Given the description of an element on the screen output the (x, y) to click on. 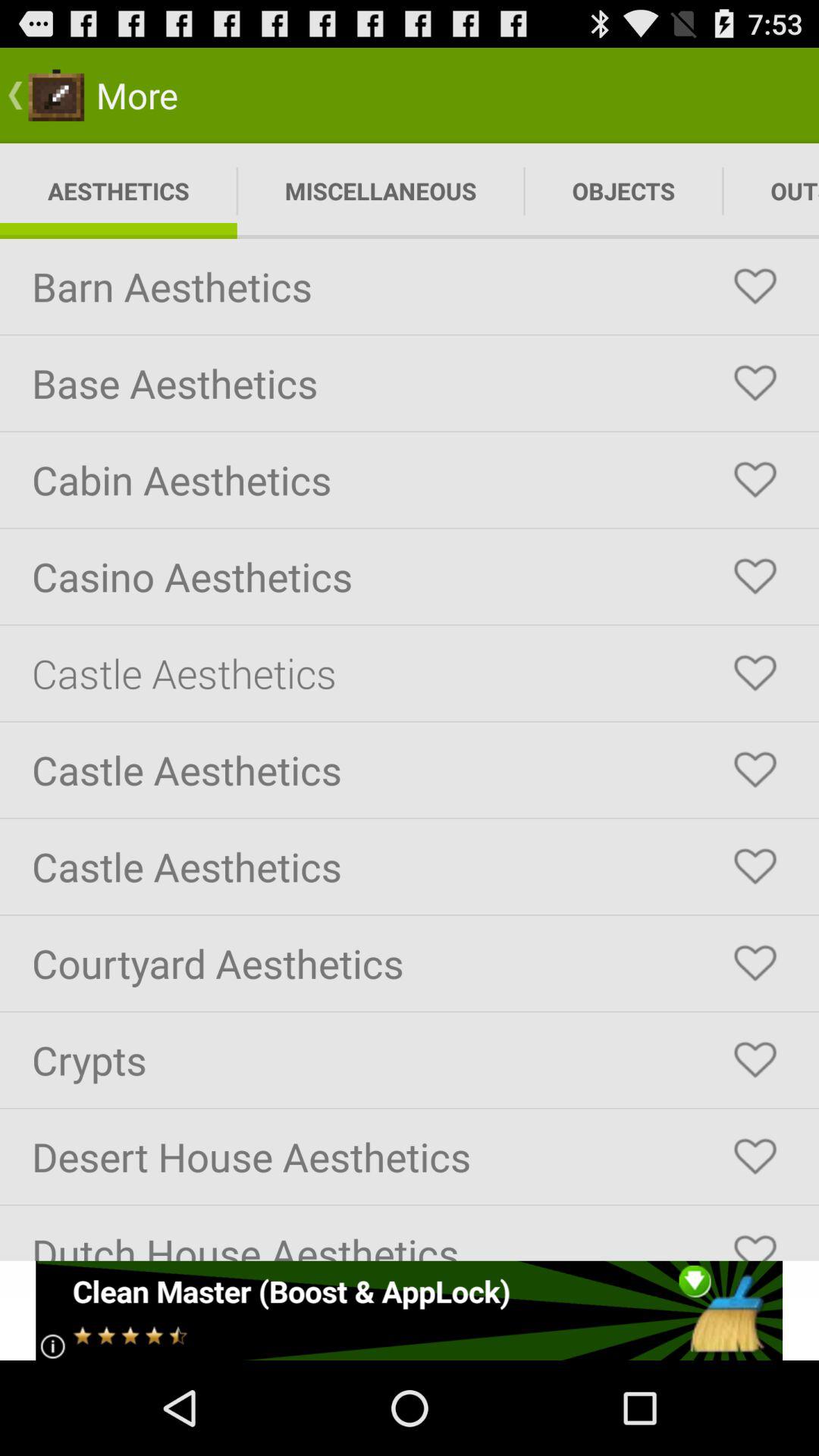
heart a workout (755, 383)
